Given the description of an element on the screen output the (x, y) to click on. 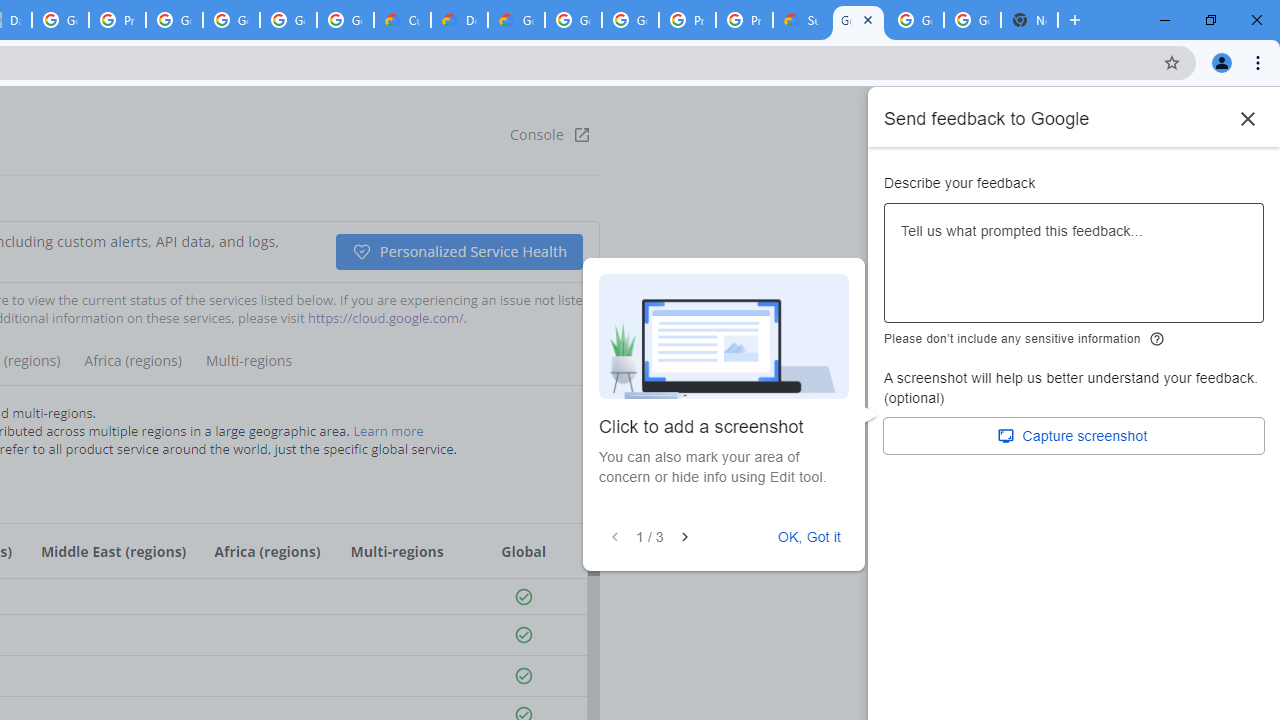
https://cloud.google.com/ (385, 318)
Customer Care | Google Cloud (402, 20)
Multi-regions (248, 368)
New Tab (1029, 20)
Google Cloud Service Health (858, 20)
Google Cloud Platform (573, 20)
OK, Got it (809, 537)
Console (550, 134)
Google Workspace - Specific Terms (345, 20)
Previous (614, 537)
